Given the description of an element on the screen output the (x, y) to click on. 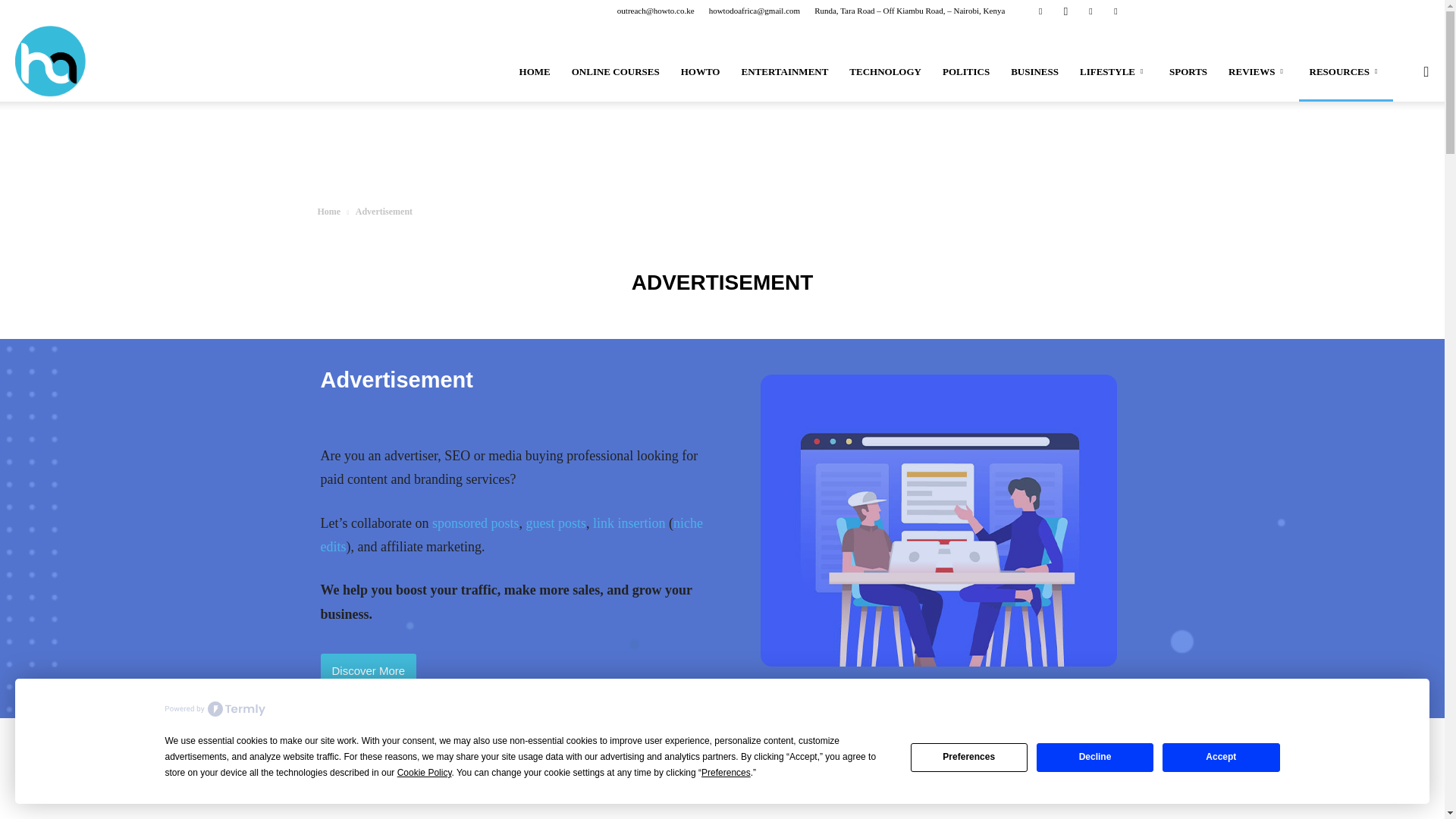
Accept (1220, 757)
Linkedin (1090, 10)
Instagram (1065, 10)
Decline (1094, 757)
Facebook (1040, 10)
Preferences (969, 757)
Howafrica (49, 61)
Twitter (1114, 10)
